Given the description of an element on the screen output the (x, y) to click on. 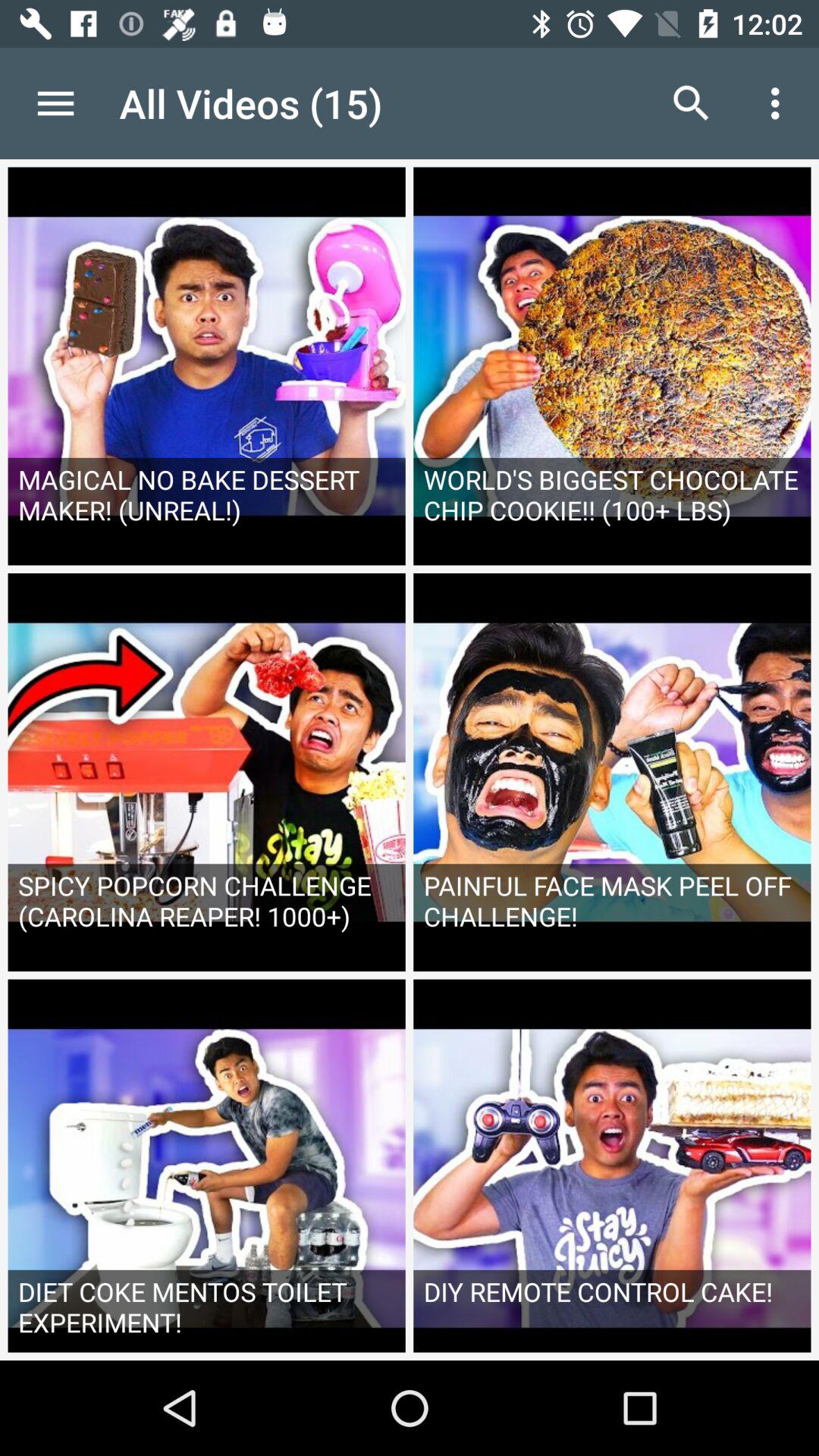
second video in the second row (612, 772)
click on the search icon (691, 103)
click on the last image at bottom left (206, 1169)
